Given the description of an element on the screen output the (x, y) to click on. 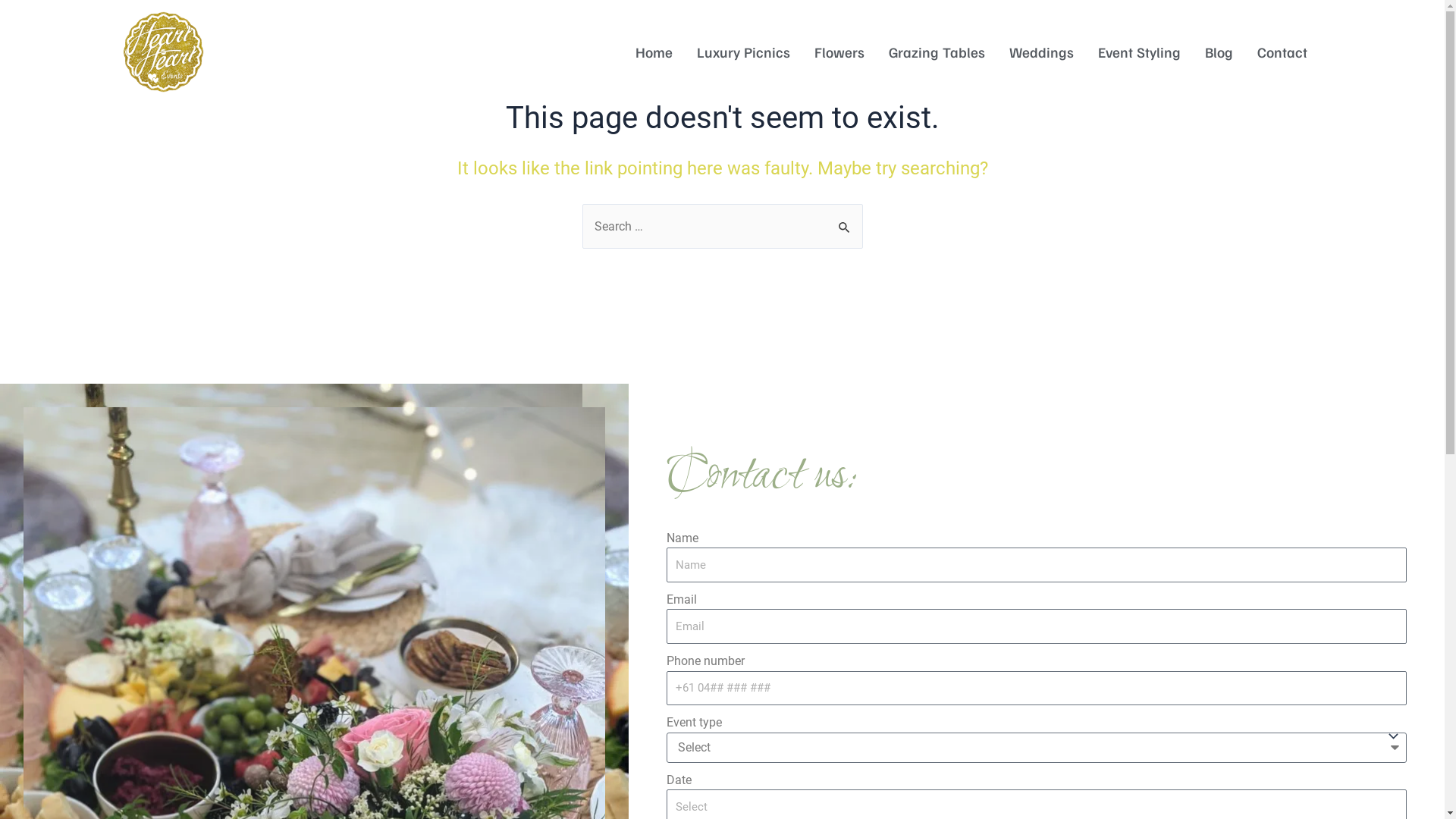
Weddings Element type: text (1041, 51)
Search Element type: text (845, 219)
Flowers Element type: text (839, 51)
Home Element type: text (653, 51)
Blog Element type: text (1218, 51)
Event Styling Element type: text (1138, 51)
Grazing Tables Element type: text (936, 51)
Contact Element type: text (1282, 51)
Luxury Picnics Element type: text (743, 51)
